Given the description of an element on the screen output the (x, y) to click on. 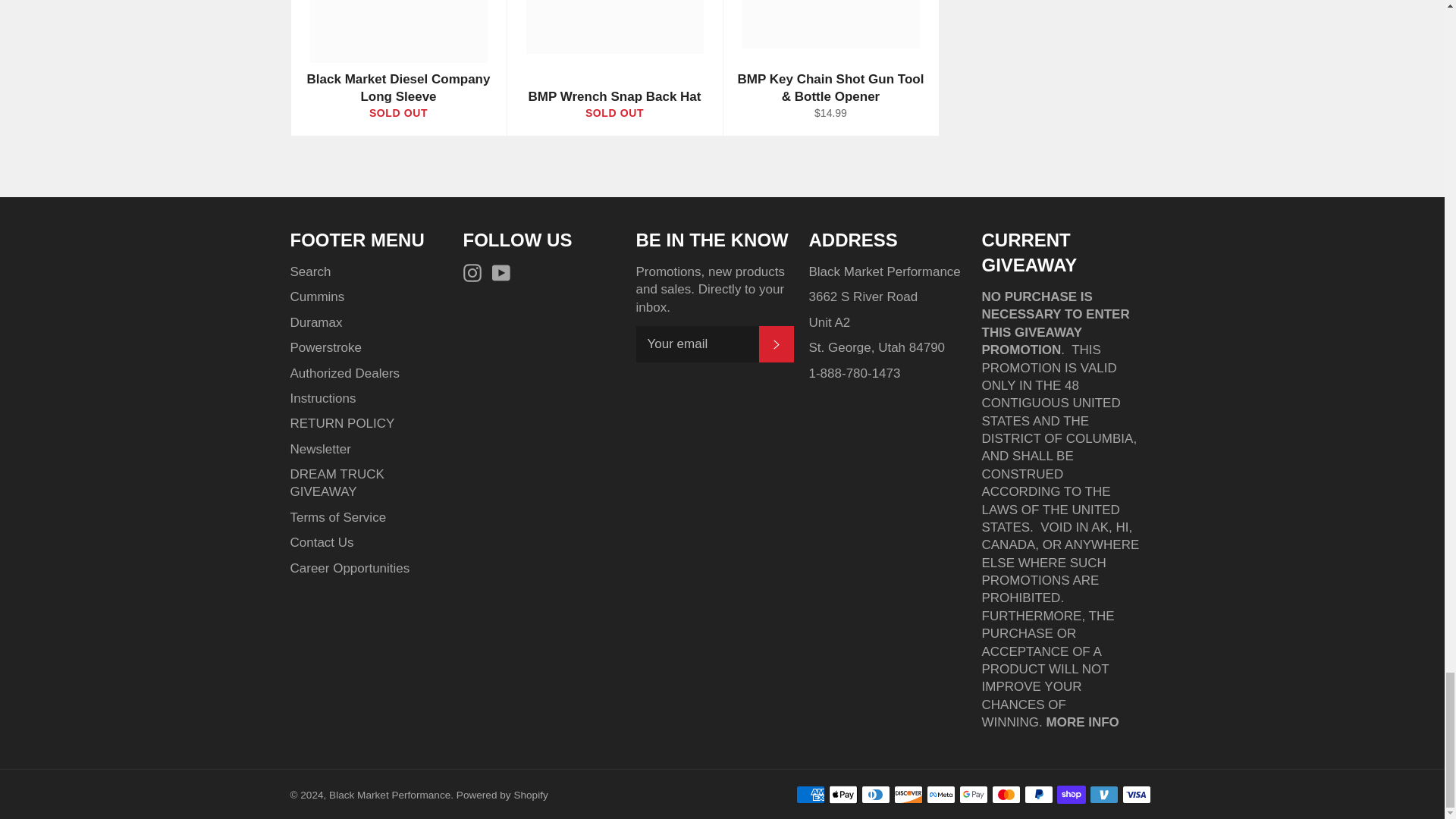
Black Market Performance on YouTube (505, 271)
DREAM TRUCK GIVEAWAY OFFICIAL RULES (1082, 721)
Black Market Performance on Instagram (475, 271)
